Given the description of an element on the screen output the (x, y) to click on. 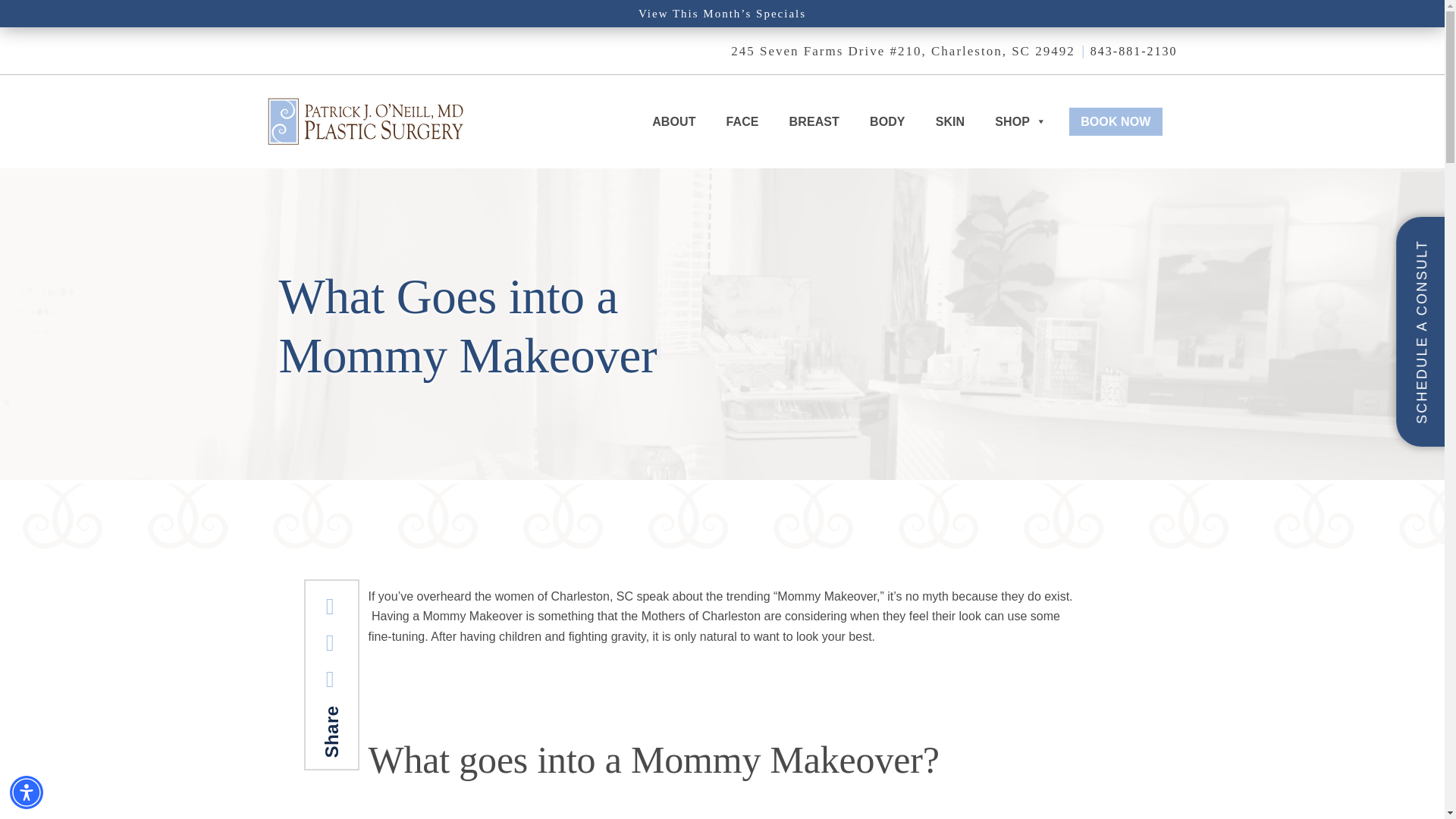
O'Neill Plastic Surgery (364, 120)
Accessibility Menu (26, 792)
843-881-2130 (1133, 51)
